Given the description of an element on the screen output the (x, y) to click on. 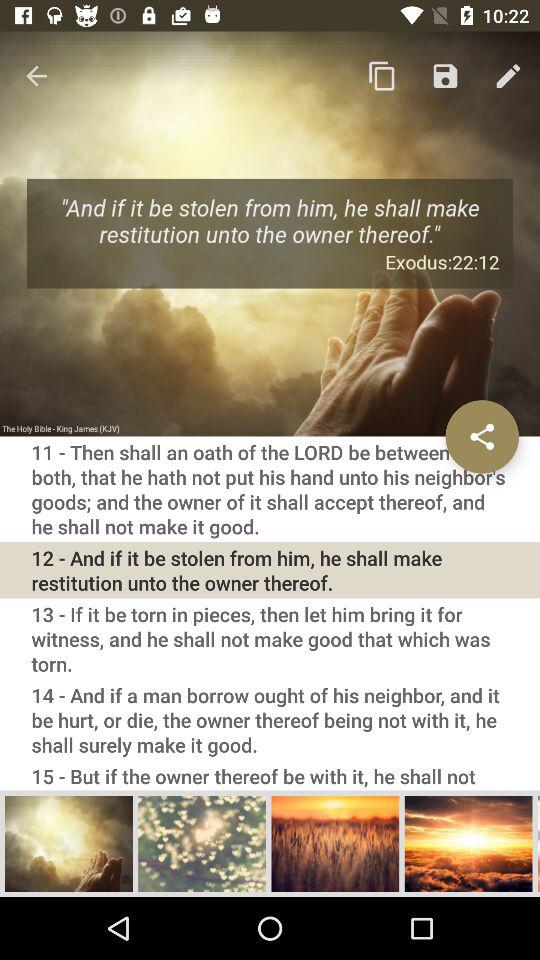
swipe until 15 but if icon (270, 775)
